Given the description of an element on the screen output the (x, y) to click on. 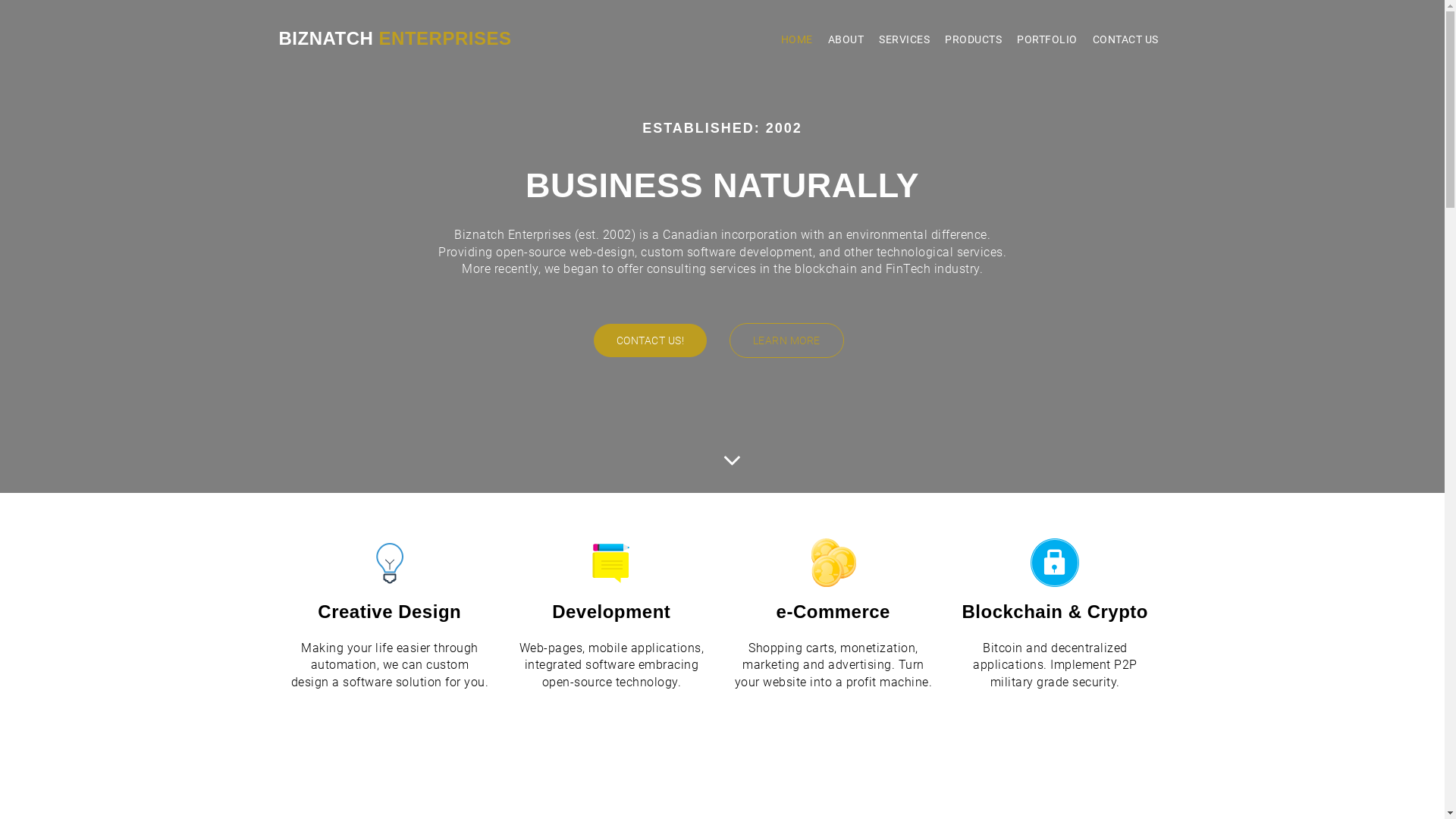
ABOUT Element type: text (846, 39)
LEARN MORE Element type: text (786, 340)
PRODUCTS Element type: text (973, 39)
BIZNATCH ENTERPRISES Element type: text (395, 38)
CONTACT US! Element type: text (649, 340)
SERVICES Element type: text (904, 39)
HOME Element type: text (796, 39)
CONTACT US Element type: text (1124, 39)
PORTFOLIO Element type: text (1047, 39)
